Given the description of an element on the screen output the (x, y) to click on. 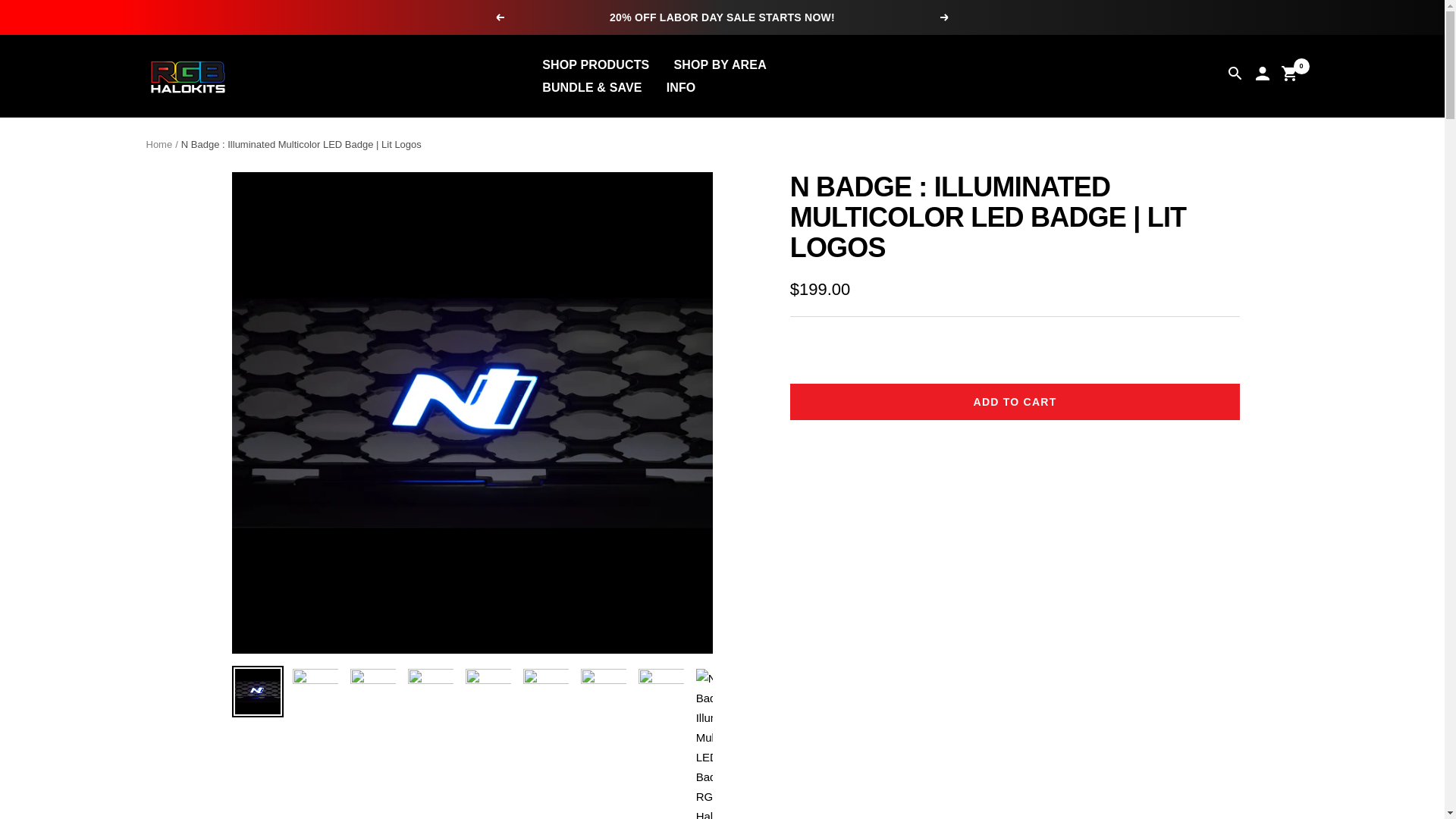
SHOP PRODUCTS (595, 64)
SHOP BY AREA (718, 64)
INFO (680, 87)
Next (944, 17)
RGB Halo Kits (186, 76)
Previous (499, 17)
